Given the description of an element on the screen output the (x, y) to click on. 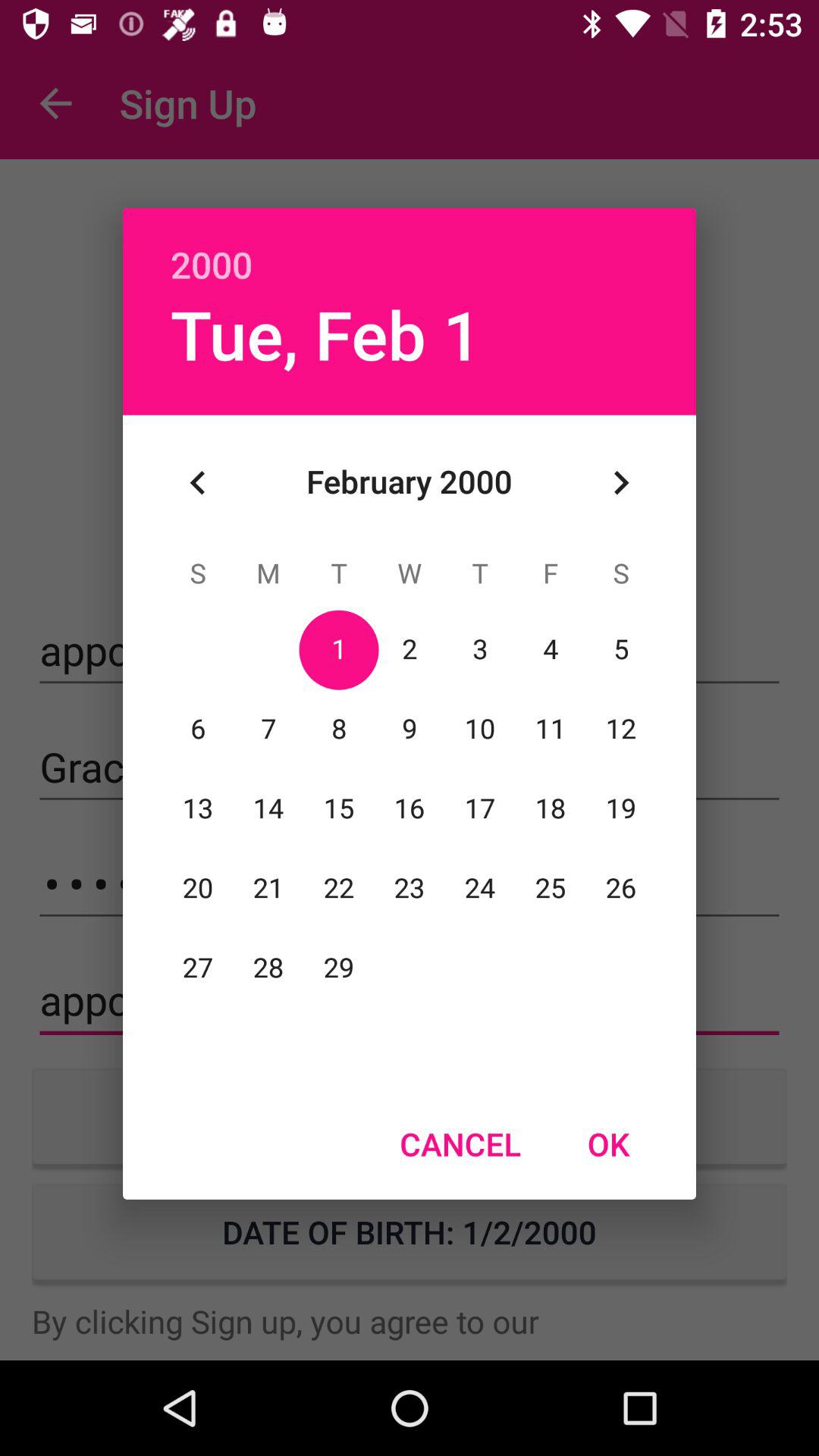
launch item above ok icon (620, 482)
